Given the description of an element on the screen output the (x, y) to click on. 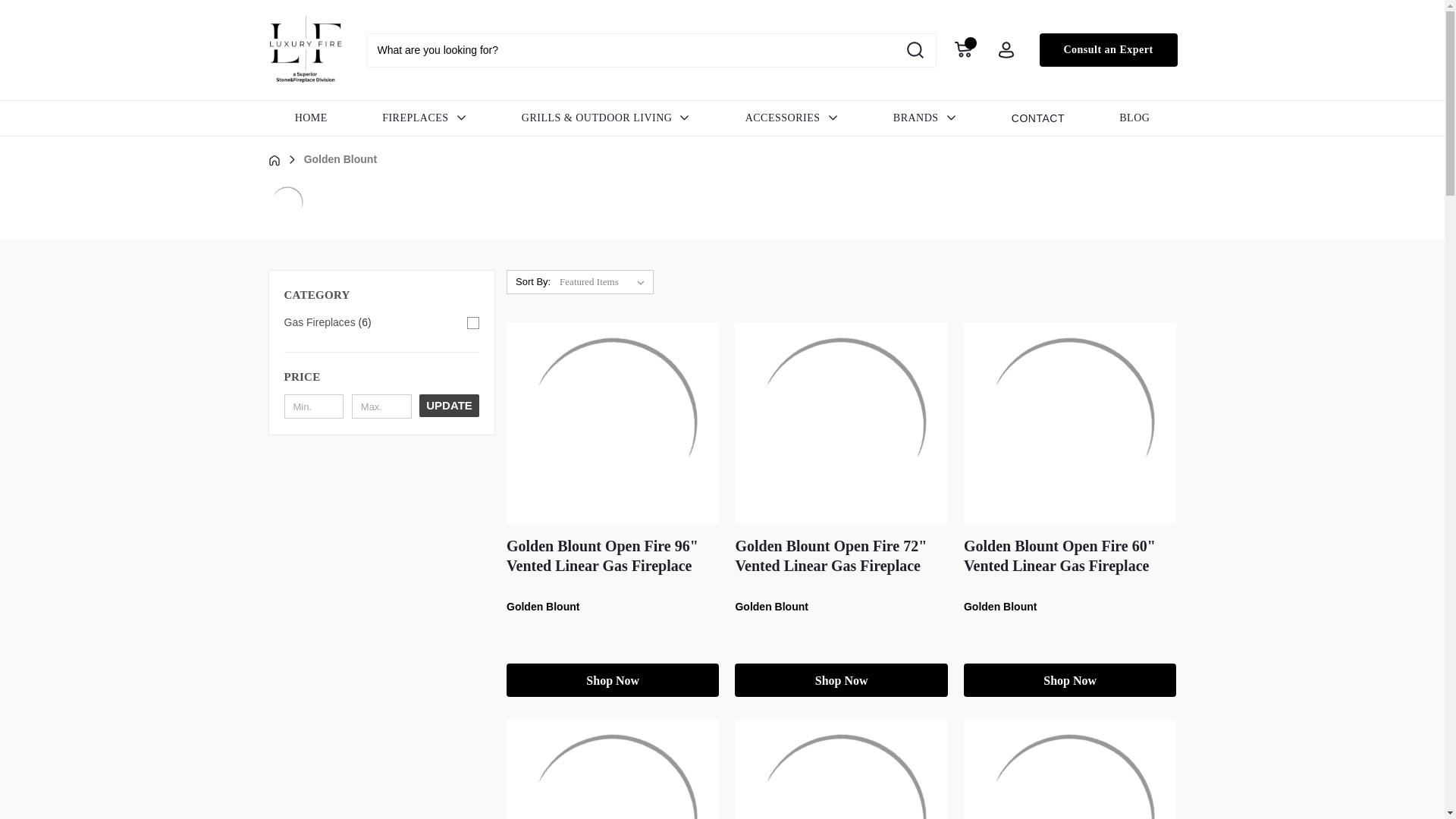
Luxury Fire (304, 49)
HOME (310, 117)
Golden Blount Open Fire 42" Vented Linear Gas Fireplace (612, 769)
Consult an Expert (1107, 49)
Golden Blount Open Fire 72" Vented Linear Gas Fireplace (840, 423)
Golden Blount Open Fire 50" Vented Gas Fireplace (840, 769)
Golden Blount Open Fire 42" Vented Gas Fireplace (1069, 769)
Golden Blount Open Fire 60" Vented Linear Gas Fireplace (1069, 423)
Golden Blount Open Fire 96" Vented Linear Gas Fireplace (612, 423)
FIREPLACES (425, 117)
